Given the description of an element on the screen output the (x, y) to click on. 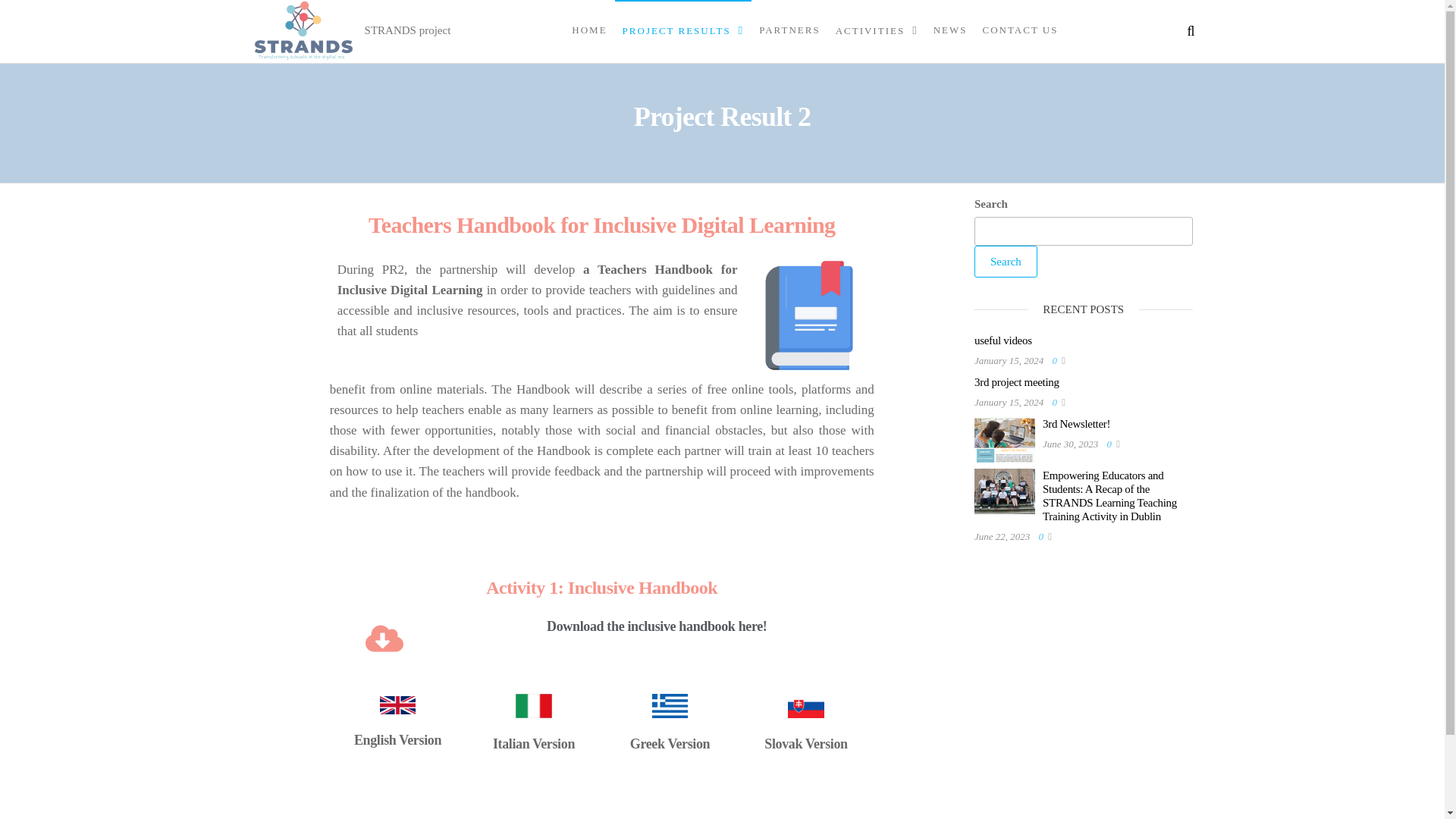
Greek Version (670, 743)
3rd Newsletter! (1075, 423)
Activities (877, 30)
ACTIVITIES (877, 30)
English Version (397, 739)
Partners (789, 30)
3rd project meeting (1016, 381)
Search (1005, 261)
Project Results (683, 30)
Slovak Version (805, 743)
STRANDS PROJECT (414, 45)
CONTACT US (1019, 30)
useful videos (1003, 340)
PROJECT RESULTS (683, 30)
Italian Version (534, 743)
